Given the description of an element on the screen output the (x, y) to click on. 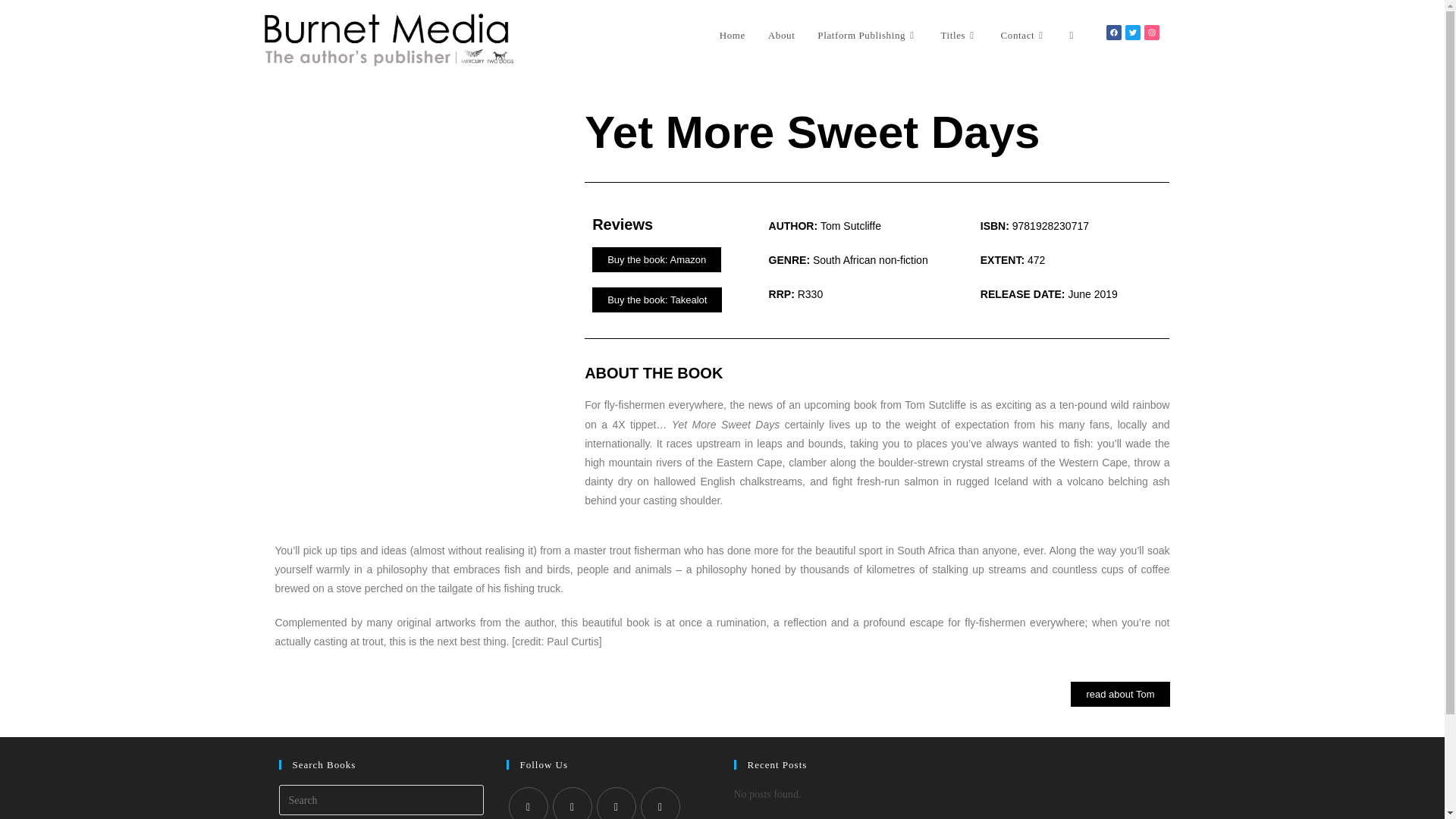
Buy the book: Amazon (656, 259)
About (781, 35)
Titles (958, 35)
Contact (1024, 35)
Platform Publishing (867, 35)
